Given the description of an element on the screen output the (x, y) to click on. 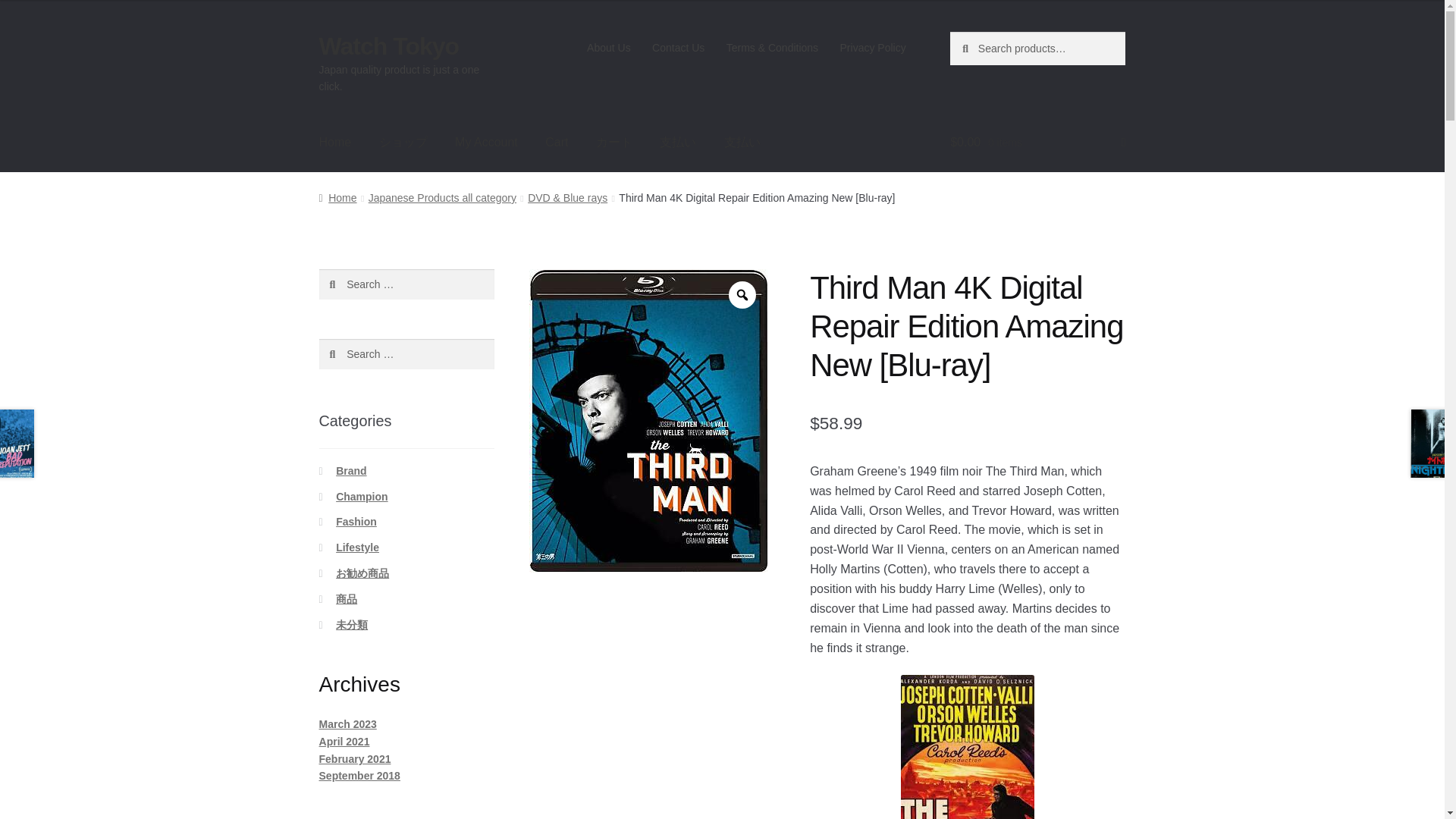
View your shopping basket (1037, 142)
Watch Tokyo (389, 45)
About Us (609, 47)
My Account (485, 142)
Home (335, 142)
Contact Us (678, 47)
Privacy Policy (872, 47)
